Given the description of an element on the screen output the (x, y) to click on. 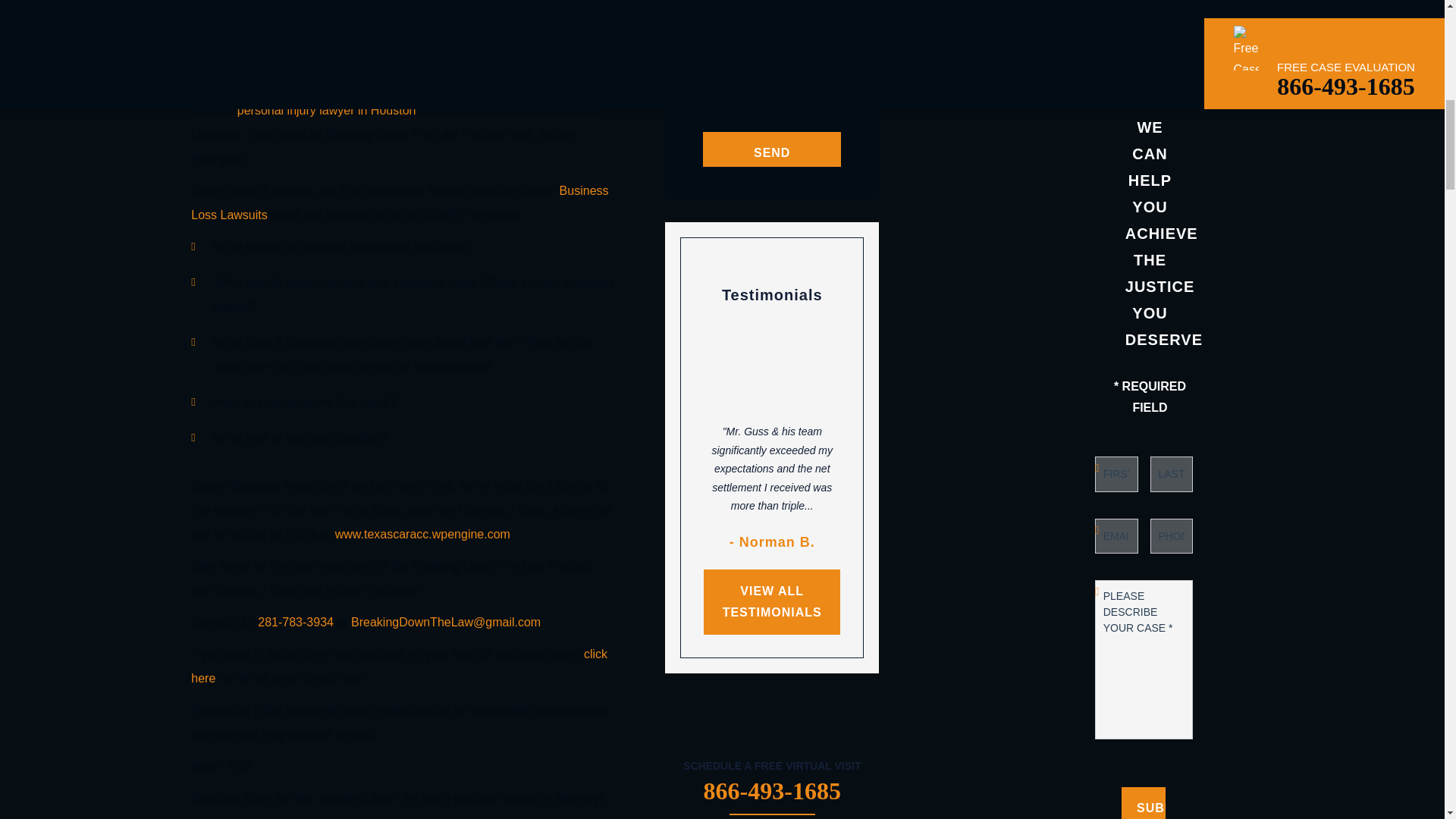
Send (772, 149)
Submit (1143, 803)
Submit (1143, 803)
personal injury lawyer in Houston (326, 110)
Business Loss Lawsuits (399, 202)
www.texascaracc.wpengine.com (422, 533)
281-783-3934 (295, 621)
click here (398, 665)
866-493-1685 (772, 790)
VIEW ALL TESTIMONIALS (771, 601)
